Given the description of an element on the screen output the (x, y) to click on. 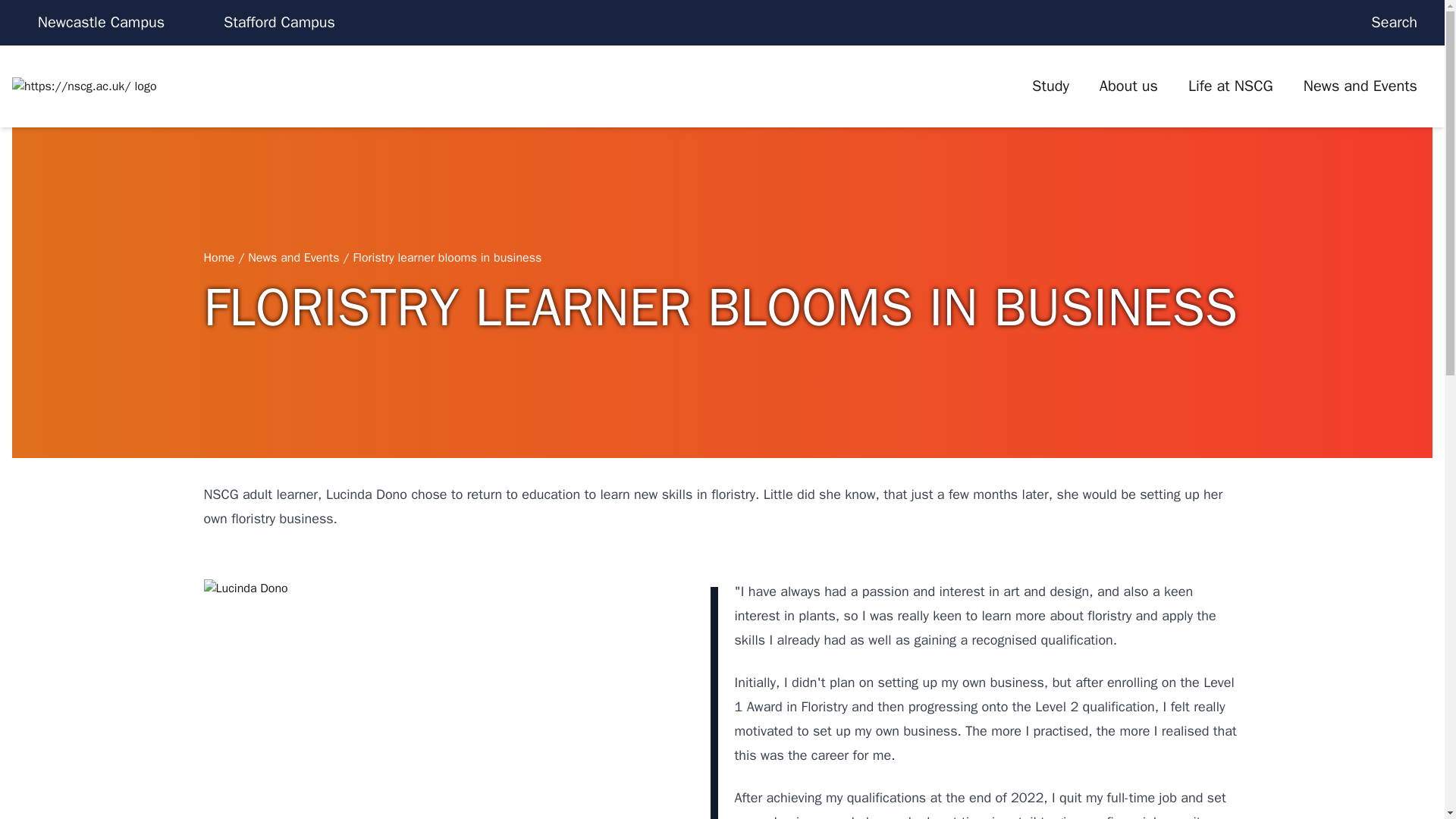
Search (1401, 22)
Stafford Campus (279, 22)
Life at NSCG (1230, 86)
About us (1128, 86)
Study (1050, 86)
Newcastle Campus (100, 22)
Open search bar (1401, 22)
Stafford Campus (279, 22)
About us (1128, 86)
Study (1050, 86)
Go to homepage (170, 85)
Newcastle Campus (100, 22)
